Given the description of an element on the screen output the (x, y) to click on. 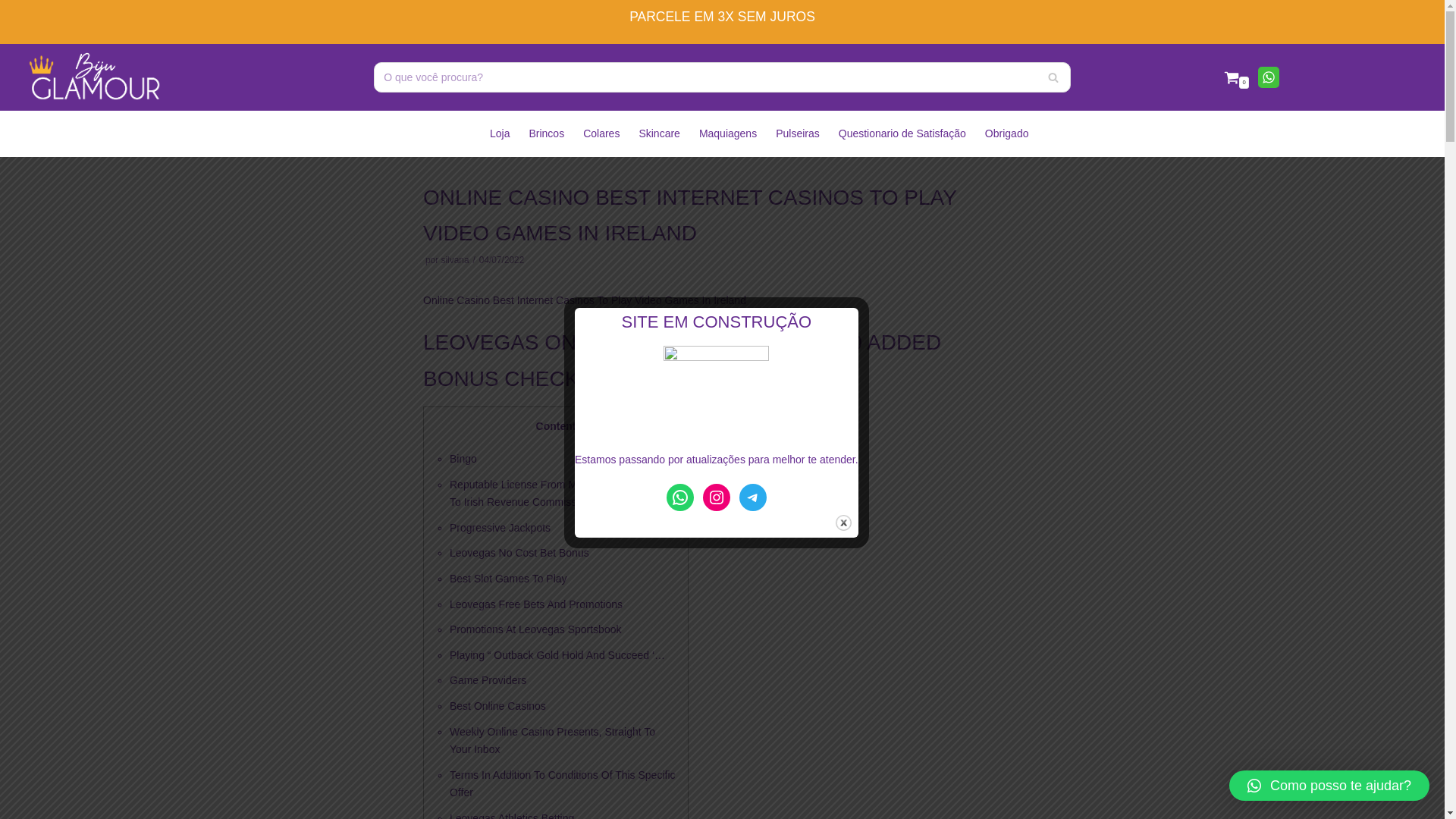
Posts de silvana (454, 259)
Brincos (546, 133)
Bingo (463, 458)
Loja (499, 133)
Obrigado (1007, 133)
Pulseiras (797, 133)
Leovegas Free Bets And Promotions (536, 604)
Leovegas No Cost Bet Bonus (519, 552)
silvana (454, 259)
Skincare (659, 133)
Maquiagens (727, 133)
Best Slot Games To Play (508, 578)
Colares (601, 133)
Biju Glamour (94, 76)
